Given the description of an element on the screen output the (x, y) to click on. 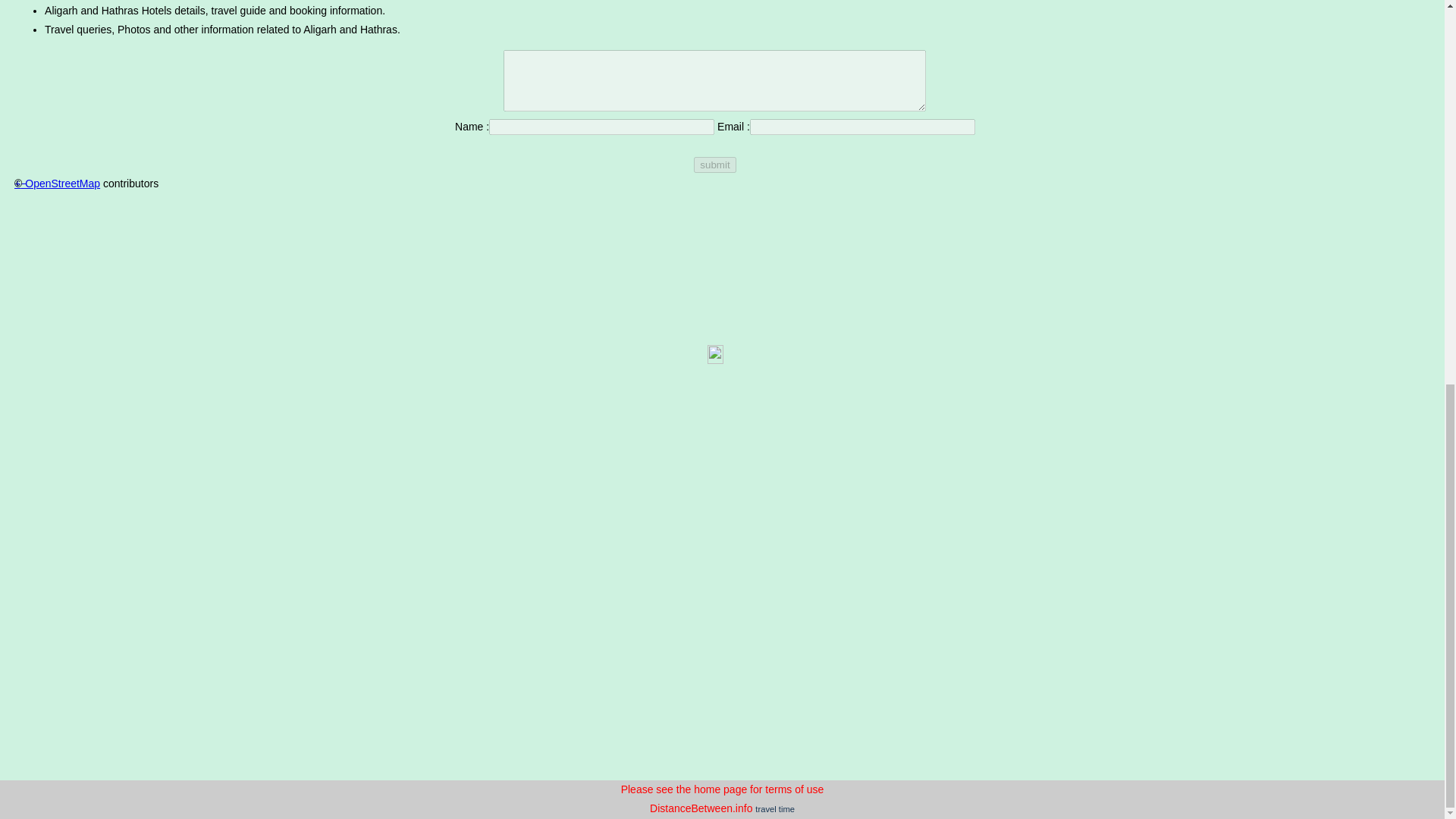
submit (714, 164)
travel time (774, 809)
submit (714, 164)
OpenStreetMap (62, 183)
